Given the description of an element on the screen output the (x, y) to click on. 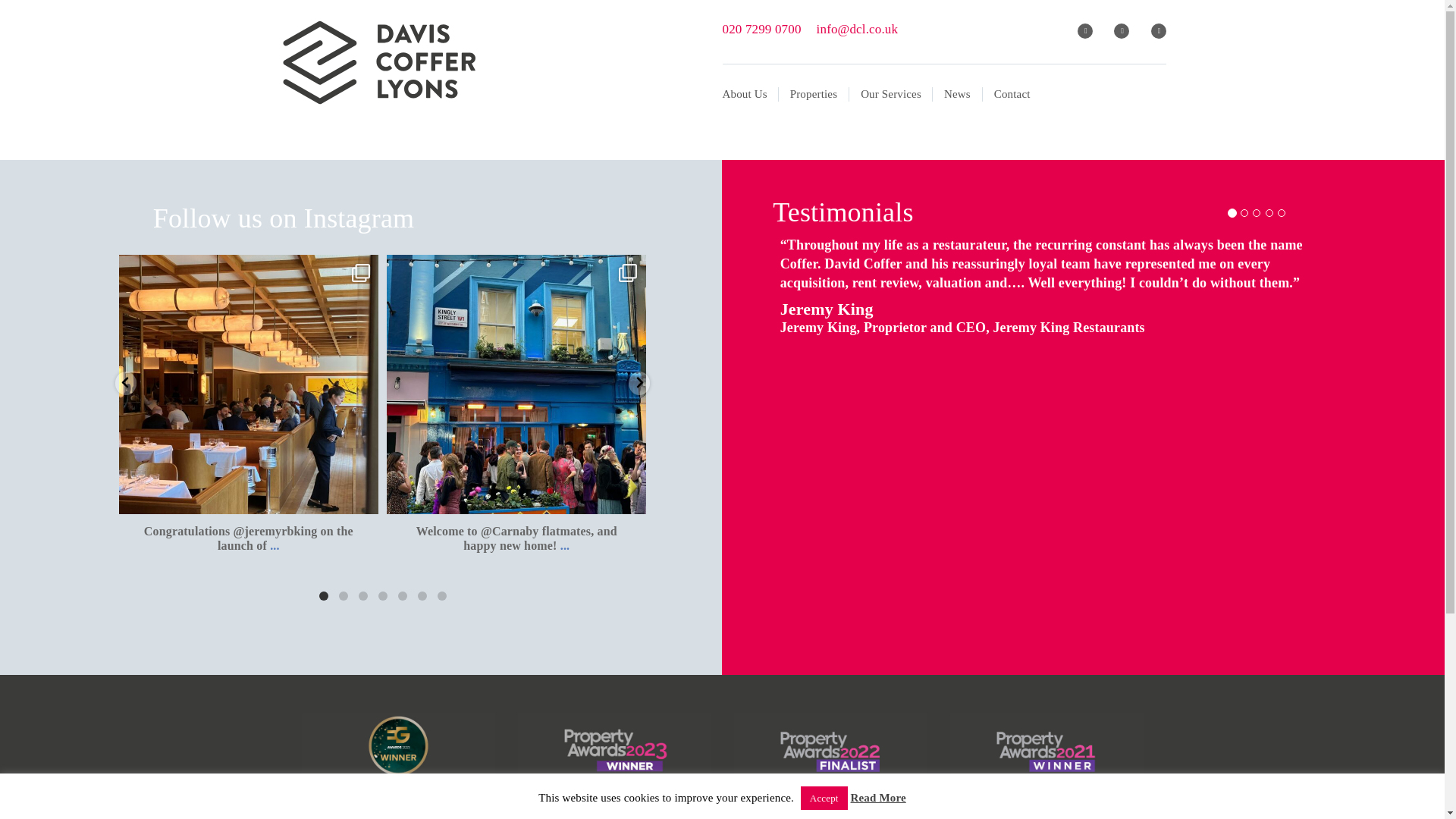
Contact (1006, 93)
Our Services (890, 93)
About Us (749, 93)
News (957, 93)
020 7299 0700 (761, 29)
Properties (813, 93)
